Given the description of an element on the screen output the (x, y) to click on. 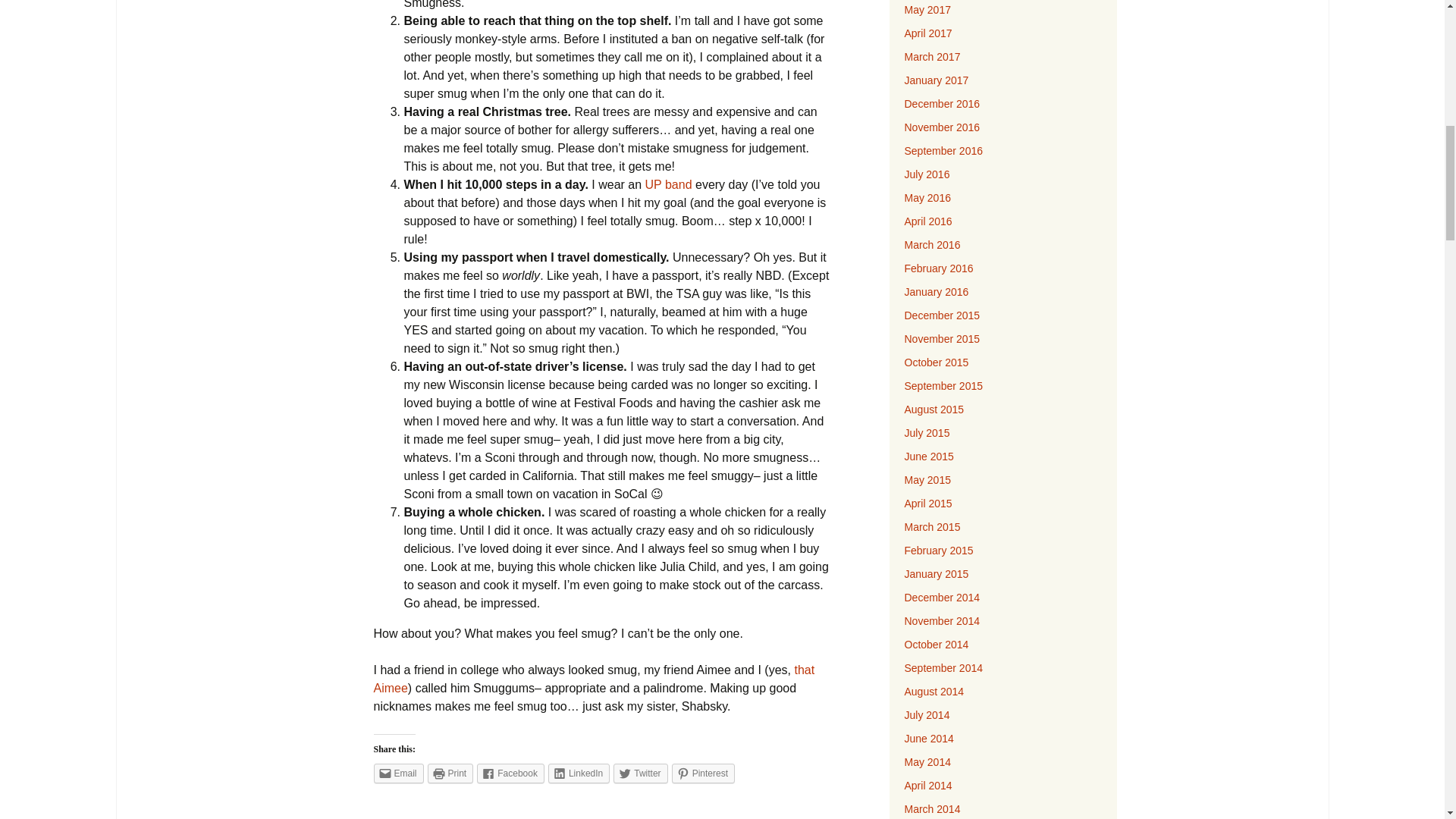
Twitter (639, 772)
Click to share on LinkedIn (579, 772)
LinkedIn (579, 772)
UP band (669, 184)
Click to share on Facebook (510, 772)
Email (397, 772)
Click to share on Twitter (639, 772)
Click to print (451, 772)
Print (451, 772)
Email Address (1358, 167)
